Given the description of an element on the screen output the (x, y) to click on. 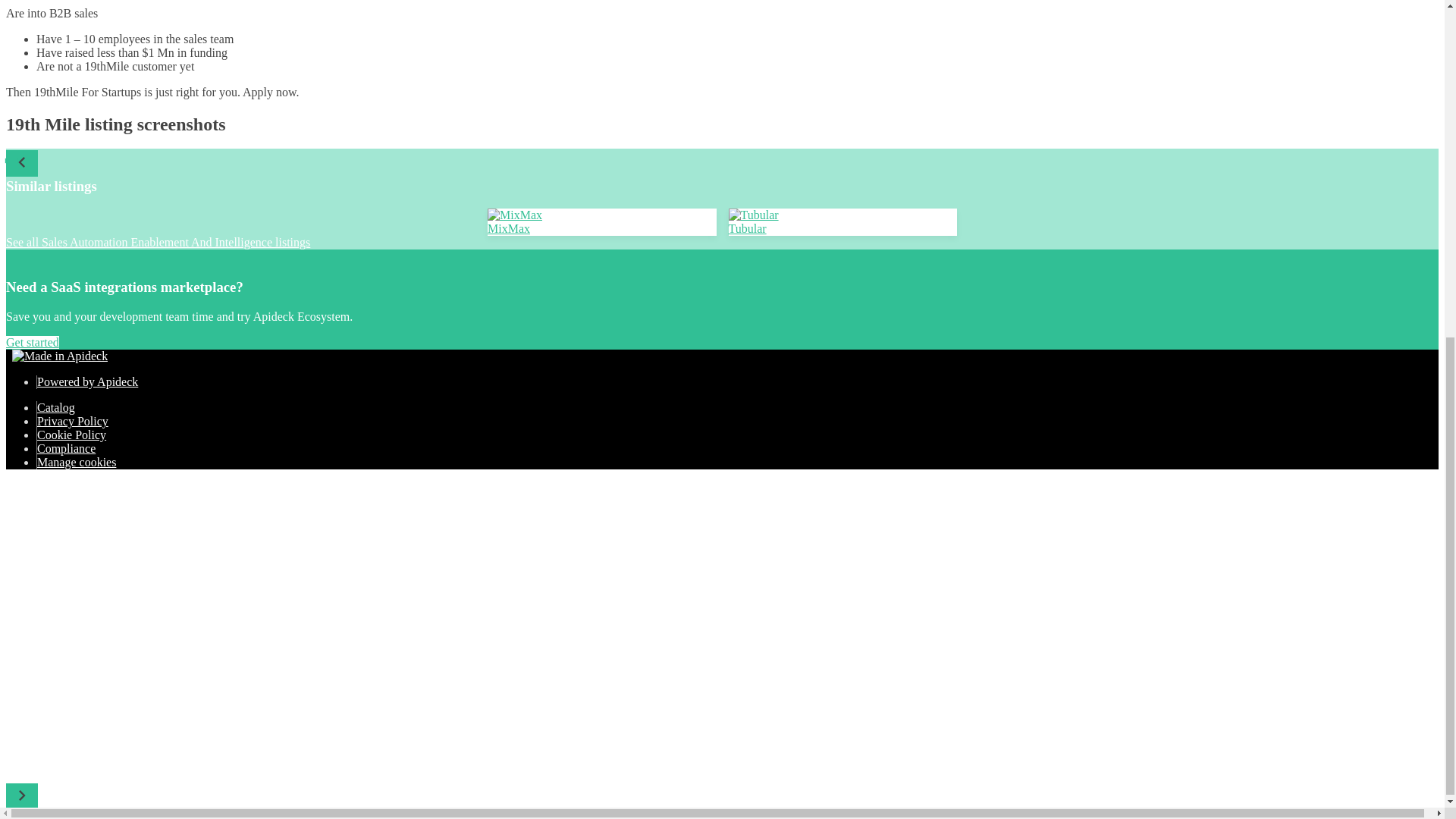
Get started (32, 341)
Tubular (842, 228)
MixMax (601, 221)
Cookie Policy (71, 434)
Catalog (56, 407)
MixMax (601, 228)
Powered by Apideck (87, 381)
Privacy Policy (72, 420)
Compliance (66, 448)
